Given the description of an element on the screen output the (x, y) to click on. 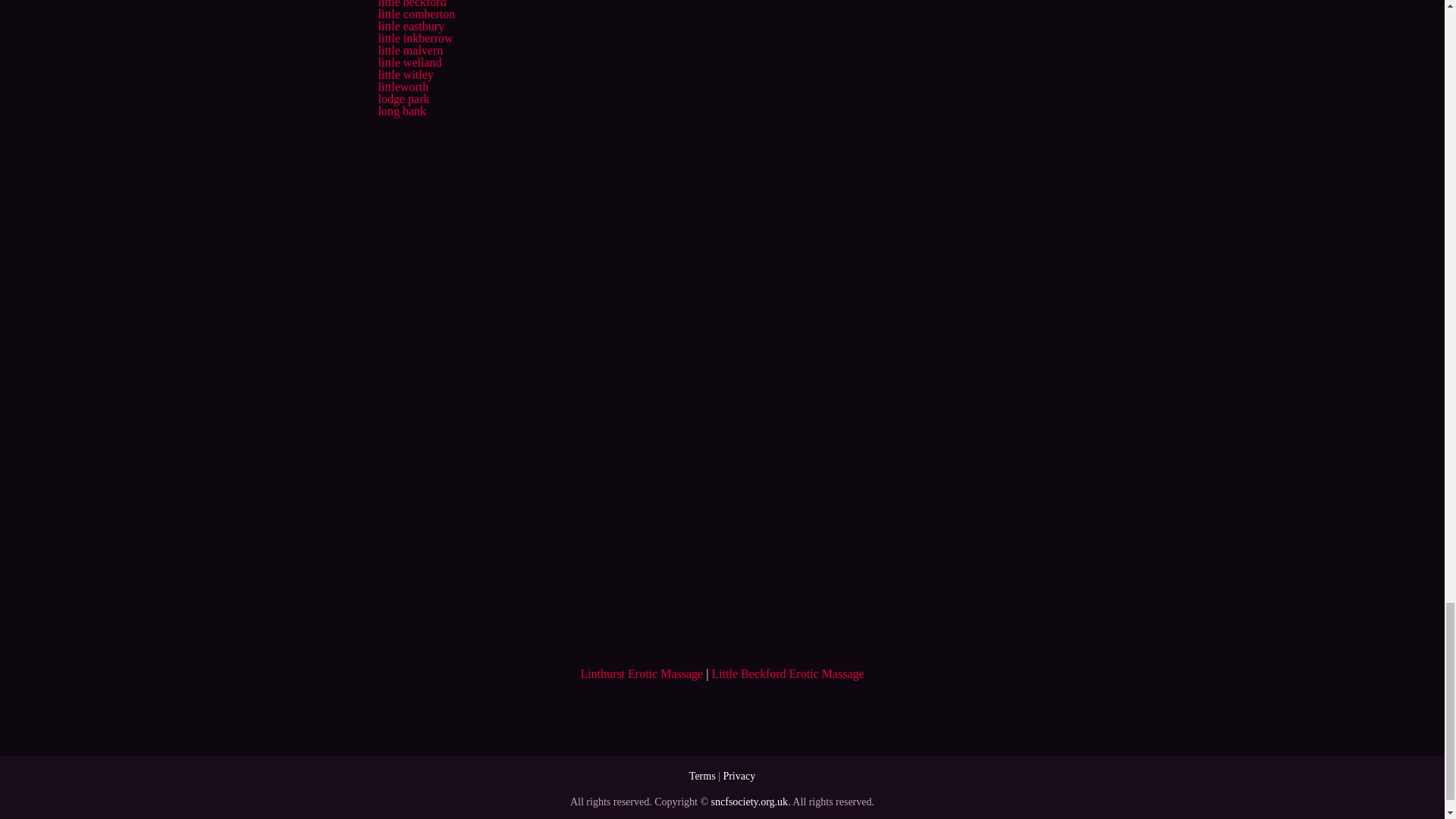
long bank (401, 110)
little inkberrow (414, 38)
little comberton (415, 13)
little witley (404, 74)
Privacy (738, 776)
Terms (702, 776)
little beckford (411, 4)
Little Beckford Erotic Massage (787, 673)
little eastbury (410, 25)
sncfsociety.org.uk (749, 801)
little welland (409, 62)
lodge park (403, 98)
Linthurst Erotic Massage (641, 673)
Privacy (738, 776)
little malvern (409, 50)
